Given the description of an element on the screen output the (x, y) to click on. 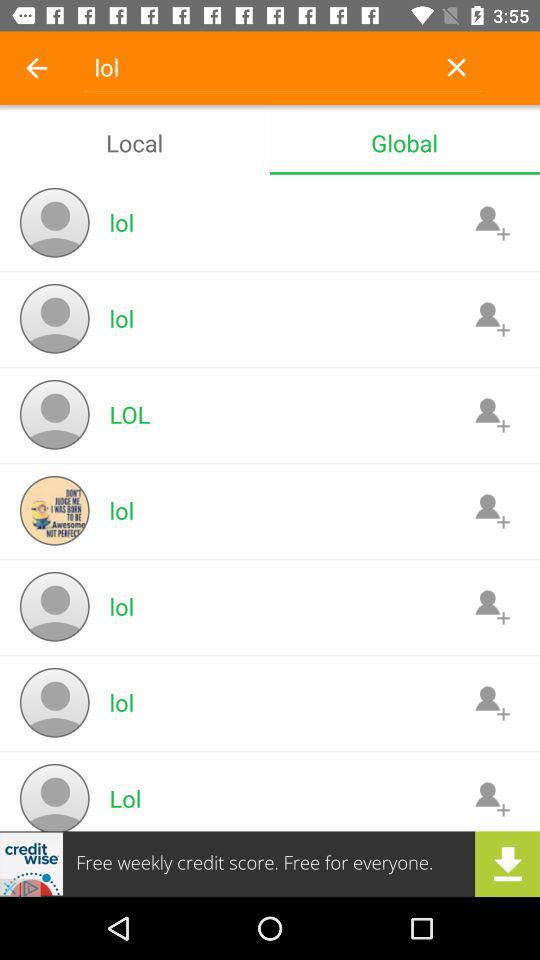
add contact (492, 702)
